Given the description of an element on the screen output the (x, y) to click on. 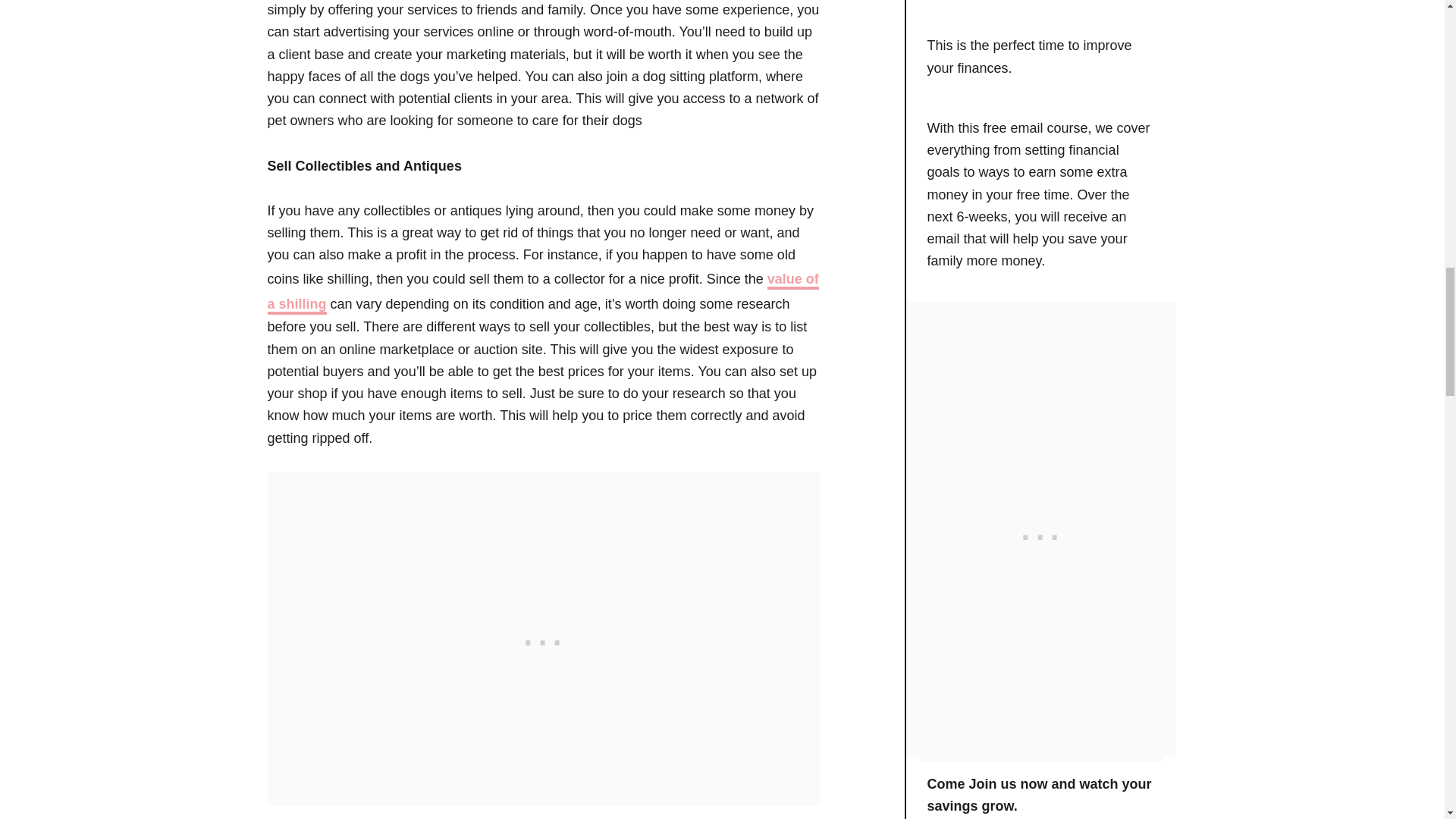
value of a shilling (542, 292)
